Given the description of an element on the screen output the (x, y) to click on. 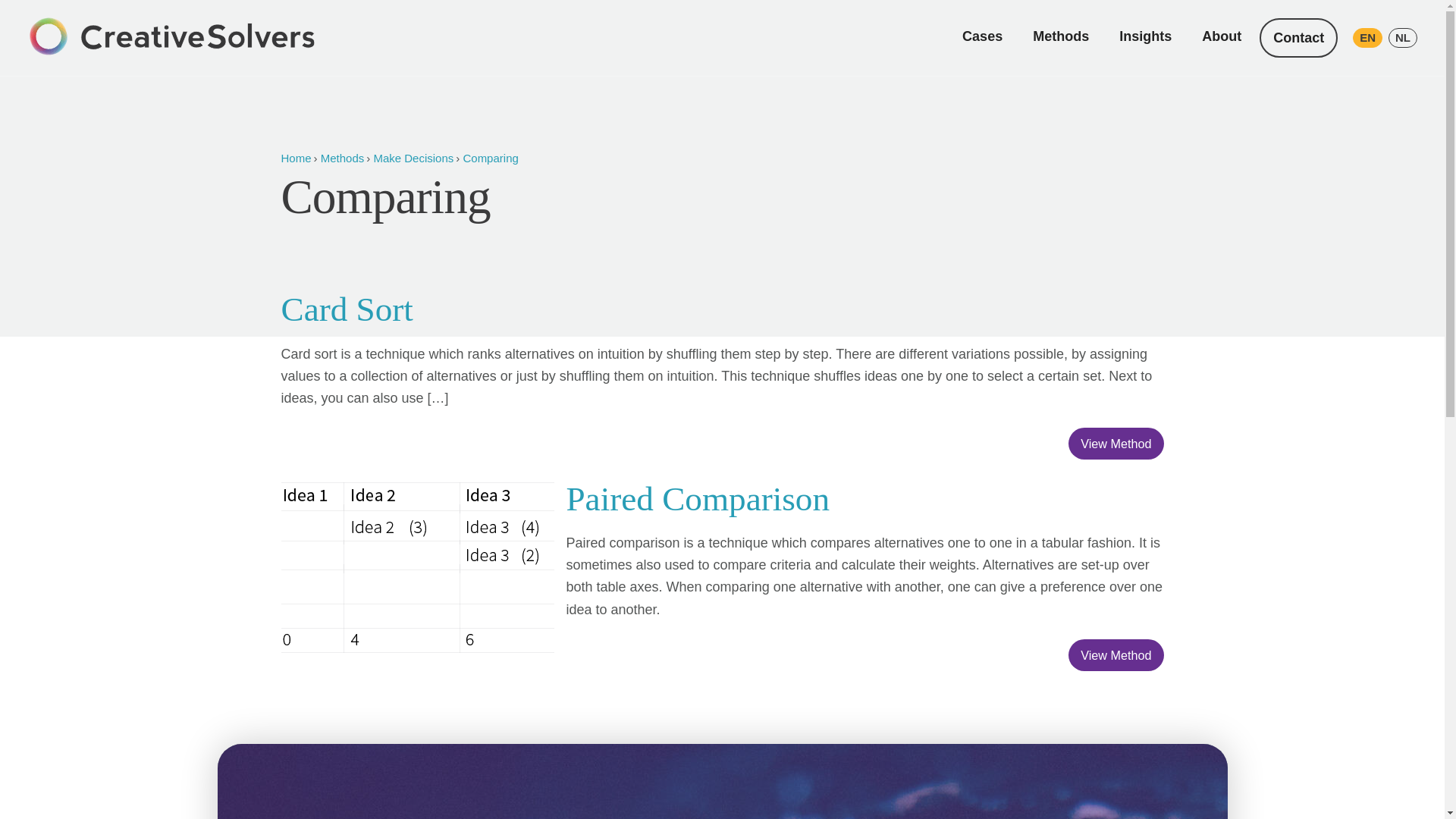
Cases (982, 36)
Methods (342, 157)
Methods (1060, 36)
NL (1402, 37)
EN (1366, 37)
Make Decisions (412, 157)
Insights (1144, 36)
Paired Comparison (697, 498)
View Method (1115, 654)
Card Sort (346, 309)
Comparing (490, 157)
View Method (1115, 443)
Card Sort (346, 309)
Paired Comparison (697, 498)
About (1221, 36)
